Given the description of an element on the screen output the (x, y) to click on. 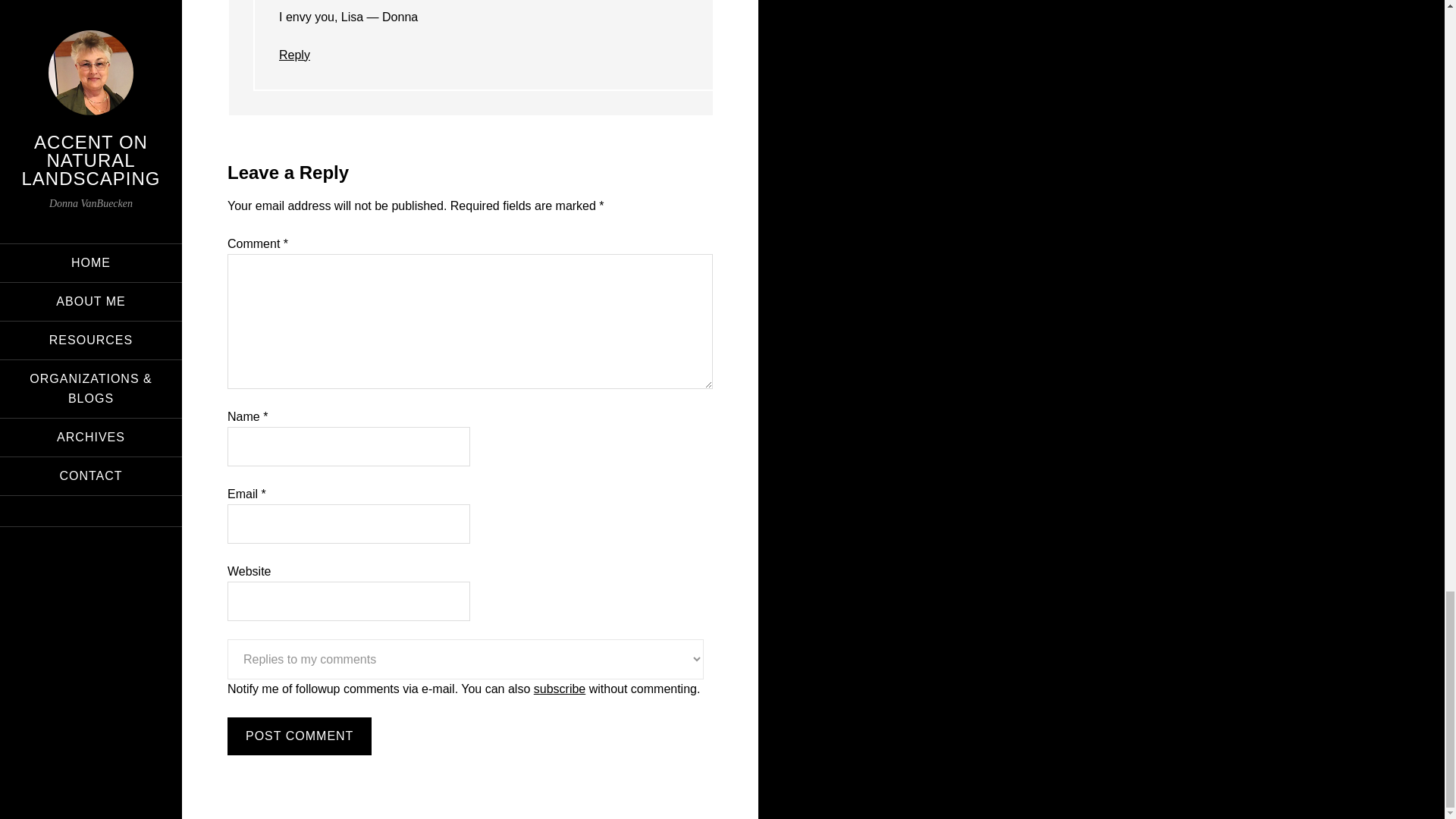
subscribe (559, 688)
Post Comment (299, 736)
Post Comment (299, 736)
Reply (294, 54)
